Given the description of an element on the screen output the (x, y) to click on. 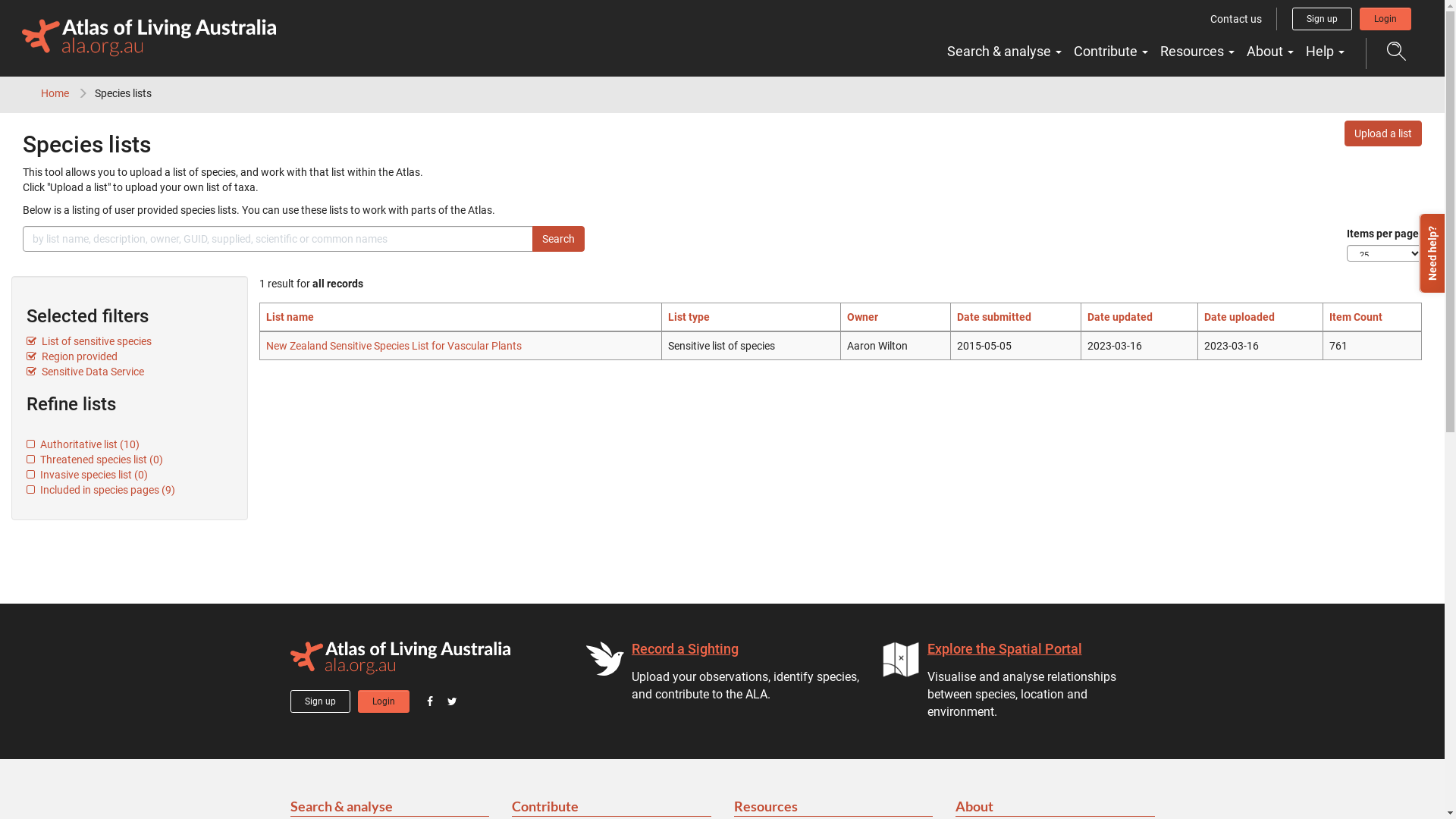
Explore the Spatial Portal Element type: text (1003, 648)
Sign up Element type: text (319, 701)
Login Element type: text (383, 701)
Date updated Element type: text (1119, 316)
Date submitted Element type: text (994, 316)
  Invasive species list (0) Element type: text (86, 474)
  Included in species pages (9) Element type: text (100, 489)
  Sensitive Data Service Element type: text (85, 371)
Date uploaded Element type: text (1239, 316)
  List of sensitive species Element type: text (88, 341)
Login Element type: text (1385, 18)
Sign up Element type: text (1322, 18)
New Zealand Sensitive Species List for Vascular Plants Element type: text (393, 345)
Resources Element type: text (833, 807)
About Element type: text (1054, 807)
  Authoritative list (10) Element type: text (82, 444)
Search Element type: text (558, 238)
Contribute Element type: text (1110, 51)
List type Element type: text (688, 316)
Contribute Element type: text (611, 807)
Search & analyse Element type: text (389, 807)
  Threatened species list (0) Element type: text (94, 459)
Resources Element type: text (1197, 51)
Item Count Element type: text (1355, 316)
Record a Sighting Element type: text (683, 648)
Owner Element type: text (862, 316)
  Region provided Element type: text (71, 356)
About Element type: text (1269, 51)
List name Element type: text (289, 316)
Help Element type: text (1324, 51)
Contact us Element type: text (1235, 18)
Upload a list Element type: text (1382, 133)
Search & analyse Element type: text (1004, 51)
Home Element type: text (54, 93)
